Given the description of an element on the screen output the (x, y) to click on. 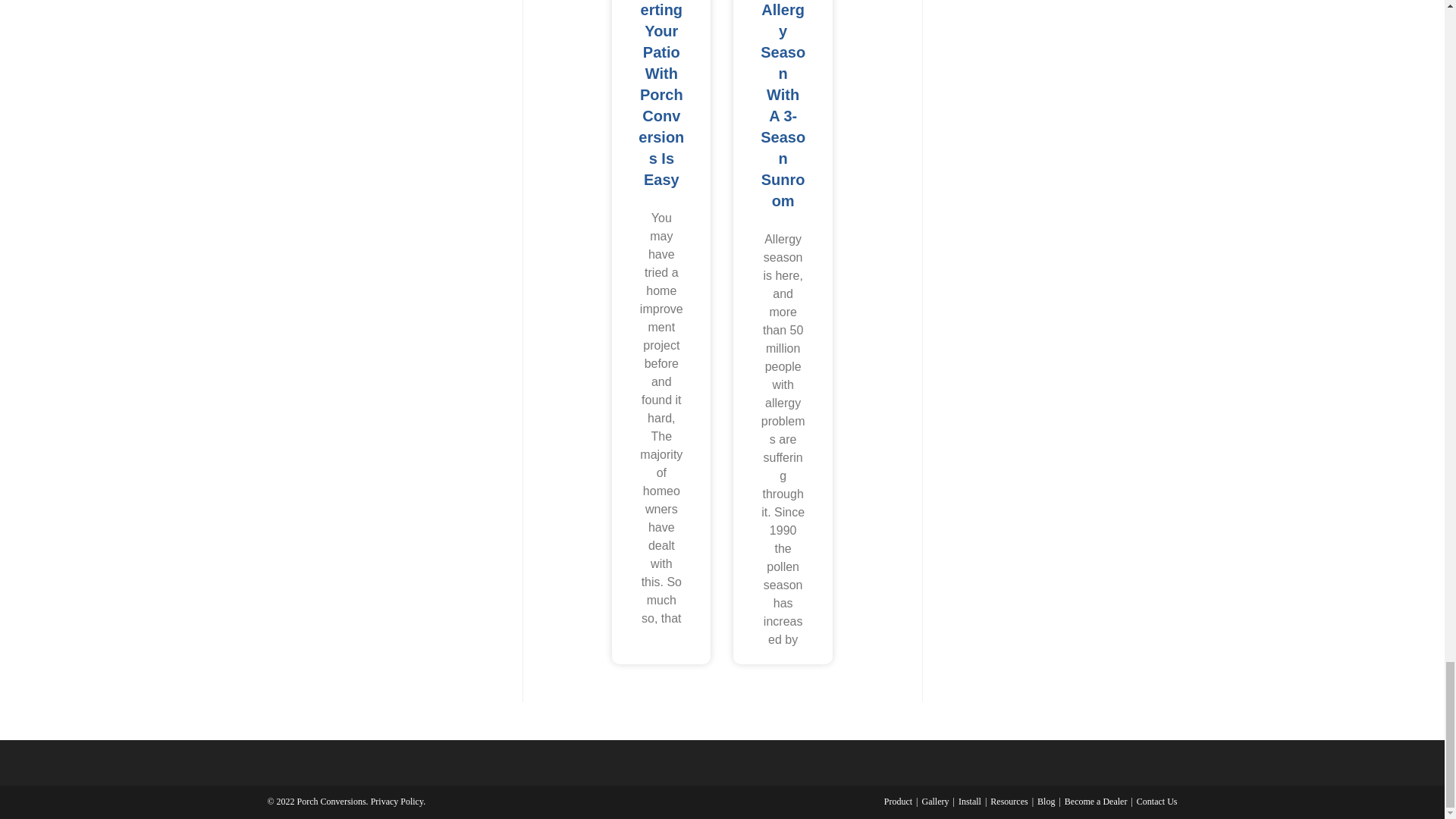
Gallery (935, 801)
Blog (1045, 801)
Resources (1008, 801)
Install (969, 801)
Product (897, 801)
